Given the description of an element on the screen output the (x, y) to click on. 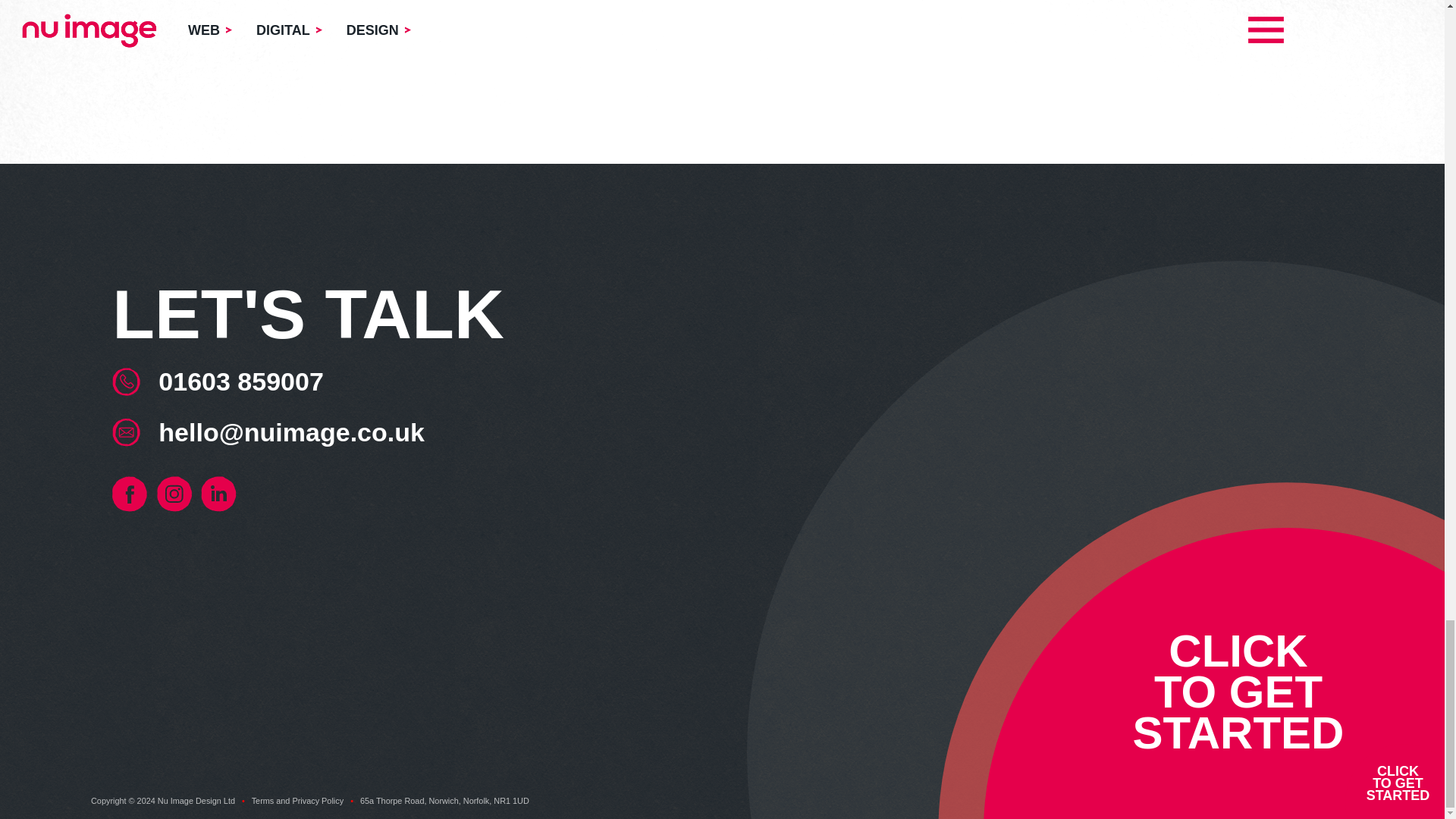
Terms and Privacy Policy (297, 800)
01603 859007 (240, 381)
